Given the description of an element on the screen output the (x, y) to click on. 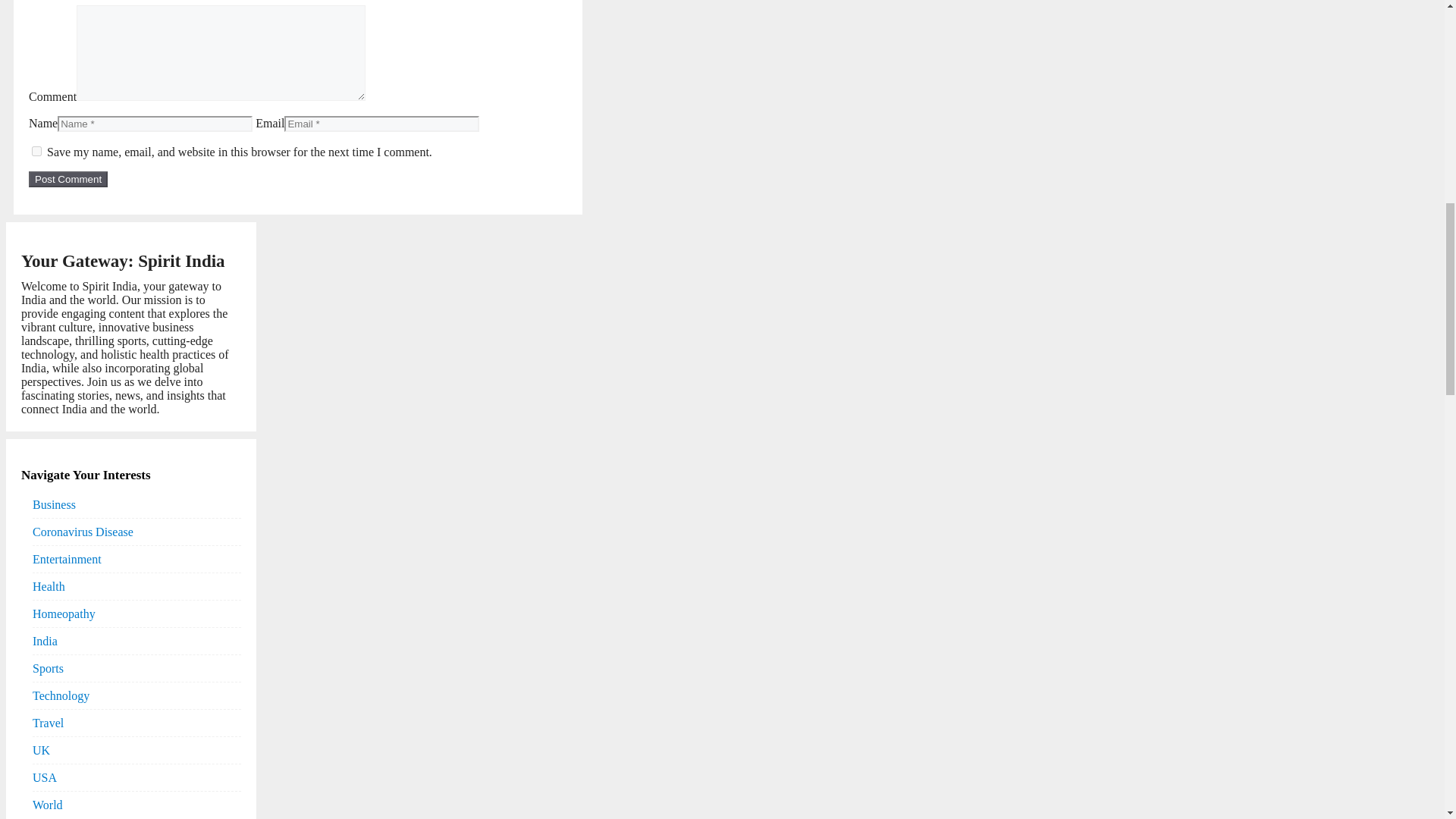
Technology (60, 695)
Entertainment (66, 559)
Post Comment (68, 179)
Sports (48, 668)
USA (44, 777)
UK (40, 750)
Business (53, 504)
Health (48, 586)
Coronavirus Disease (82, 531)
yes (37, 151)
Travel (48, 723)
India (45, 641)
Post Comment (68, 179)
Homeopathy (64, 613)
